Given the description of an element on the screen output the (x, y) to click on. 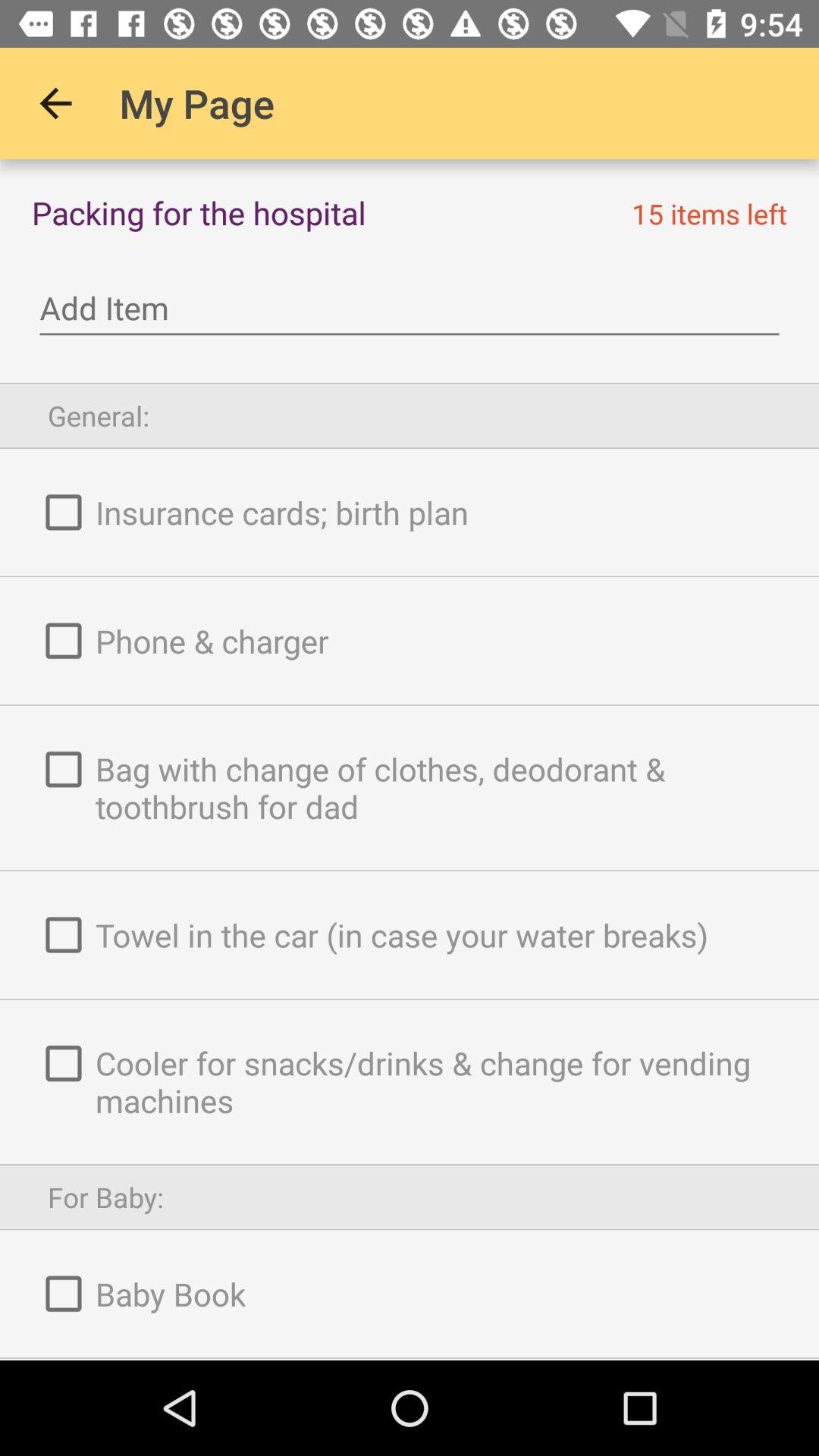
select icon next to the my page (55, 103)
